Given the description of an element on the screen output the (x, y) to click on. 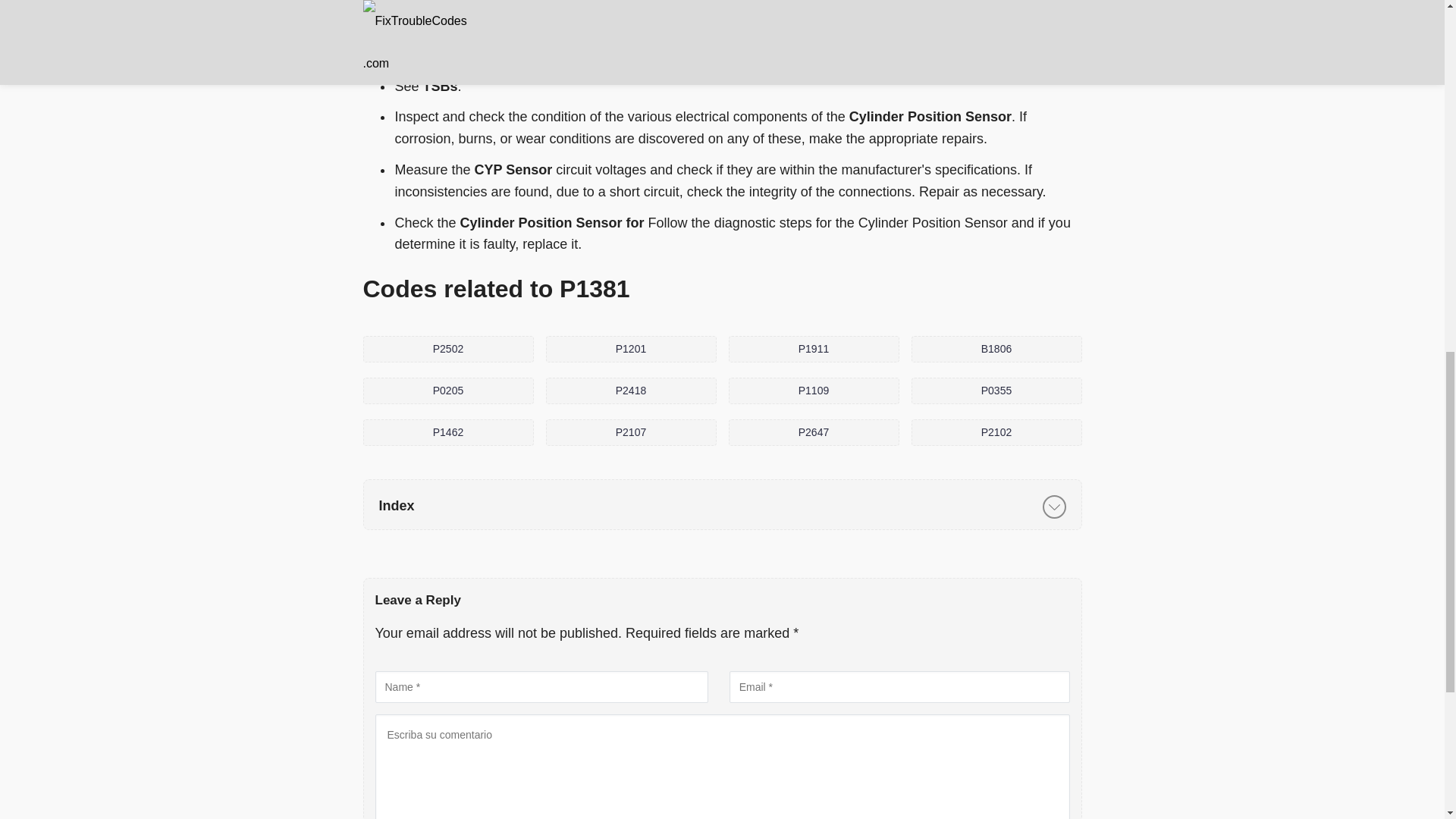
P2107 (631, 432)
P1109 (813, 390)
P0355 (996, 390)
P0205 (447, 390)
B1806 (996, 348)
P2418 (631, 390)
P2502 (447, 348)
P1911 (813, 348)
P1462 (447, 432)
P1462 (447, 432)
P1911 (813, 348)
P2647 (813, 432)
P2647 (813, 432)
P0205 (447, 390)
B1806 (996, 348)
